Given the description of an element on the screen output the (x, y) to click on. 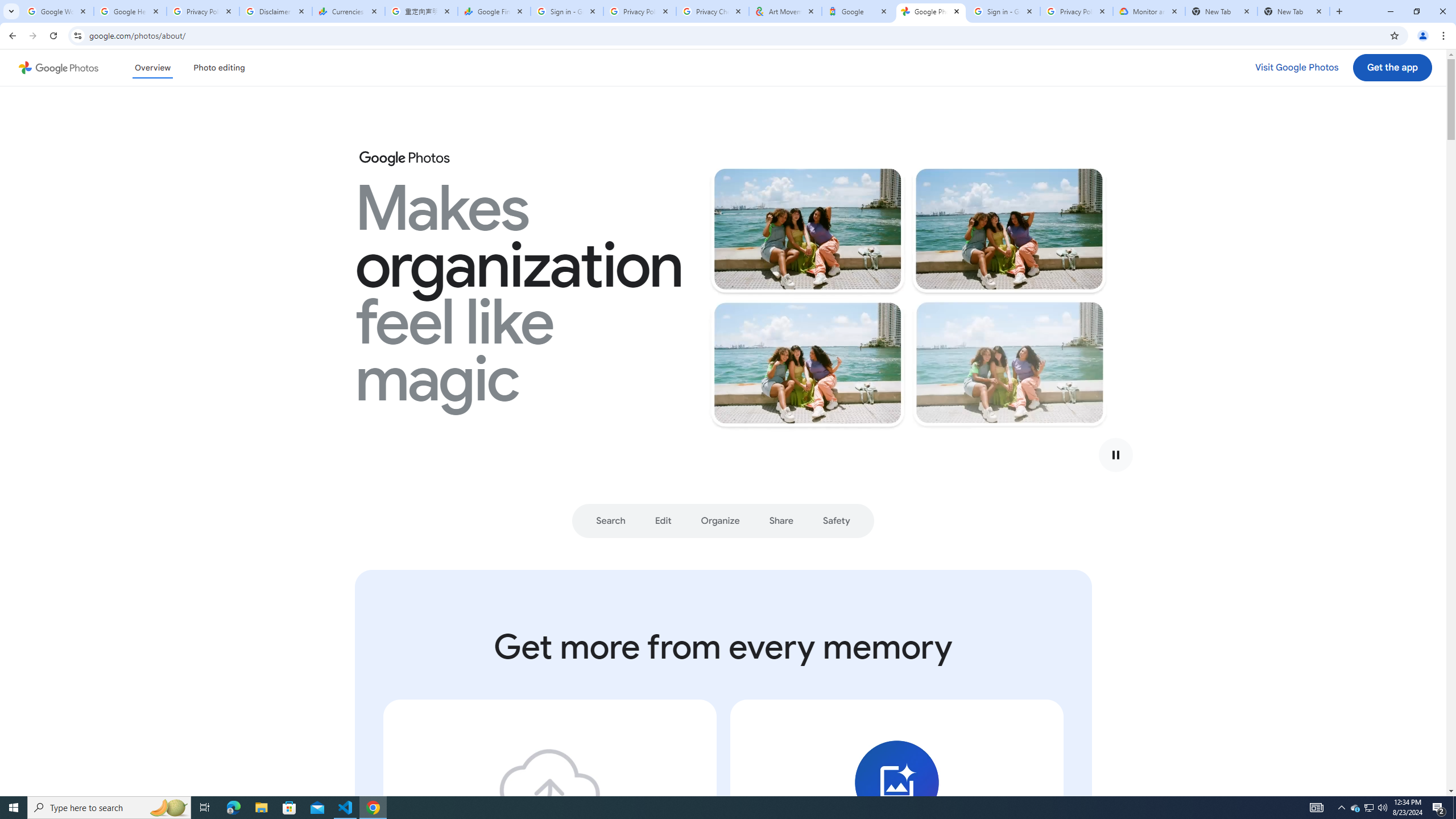
Sign in - Google Accounts (566, 11)
Privacy Checkup (712, 11)
Go to section: Edit (663, 520)
Sign in - Google Accounts (1003, 11)
Visit the Overview page (152, 67)
Go to section: Organize (720, 520)
Currencies - Google Finance (348, 11)
Visit Google Photos (1296, 67)
New Tab (1293, 11)
New Tab (1221, 11)
